Given the description of an element on the screen output the (x, y) to click on. 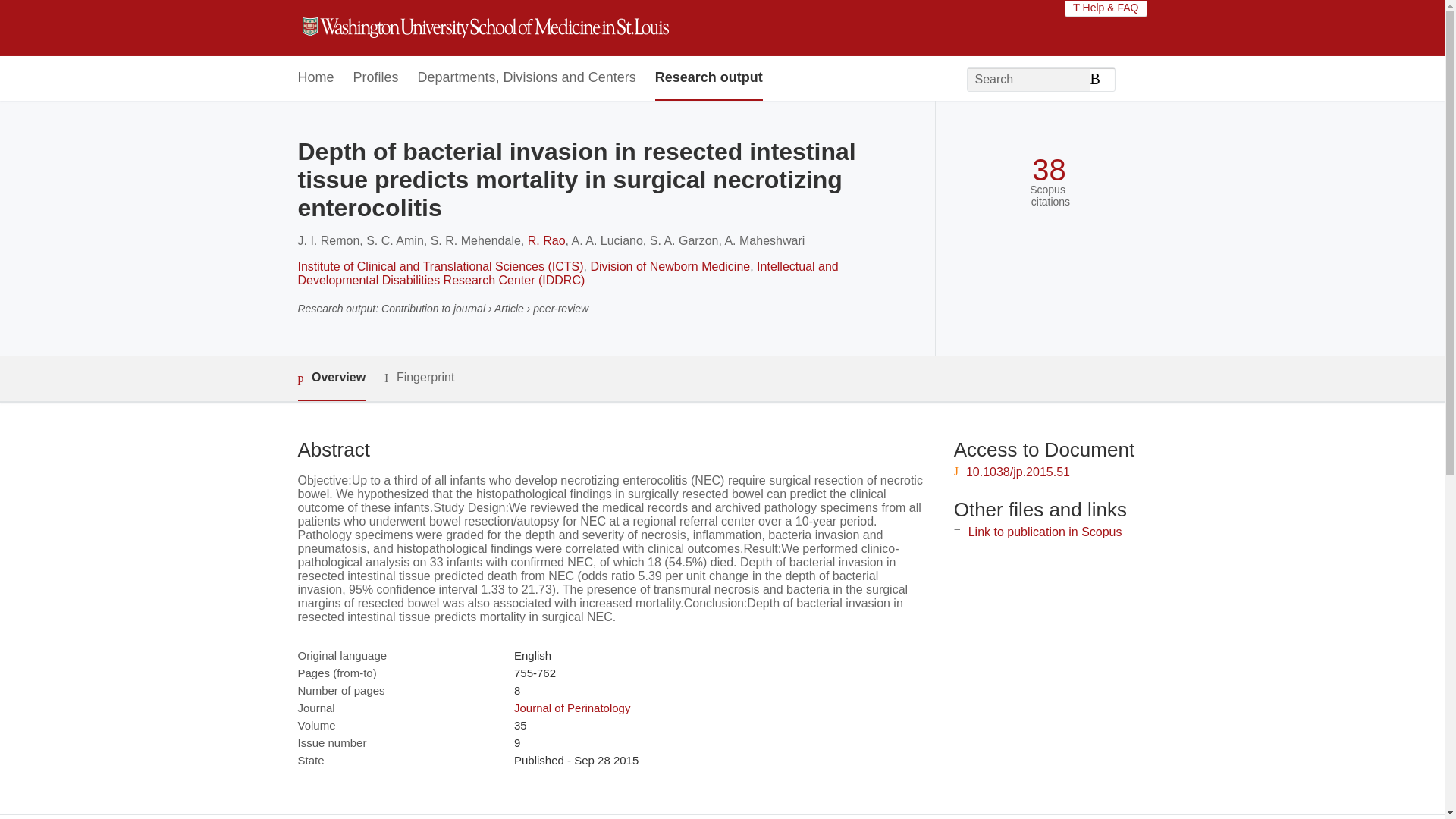
Overview (331, 378)
Departments, Divisions and Centers (526, 78)
Profiles (375, 78)
Fingerprint (419, 377)
R. Rao (546, 240)
Research output (708, 78)
Link to publication in Scopus (1045, 531)
38 (1048, 170)
